Given the description of an element on the screen output the (x, y) to click on. 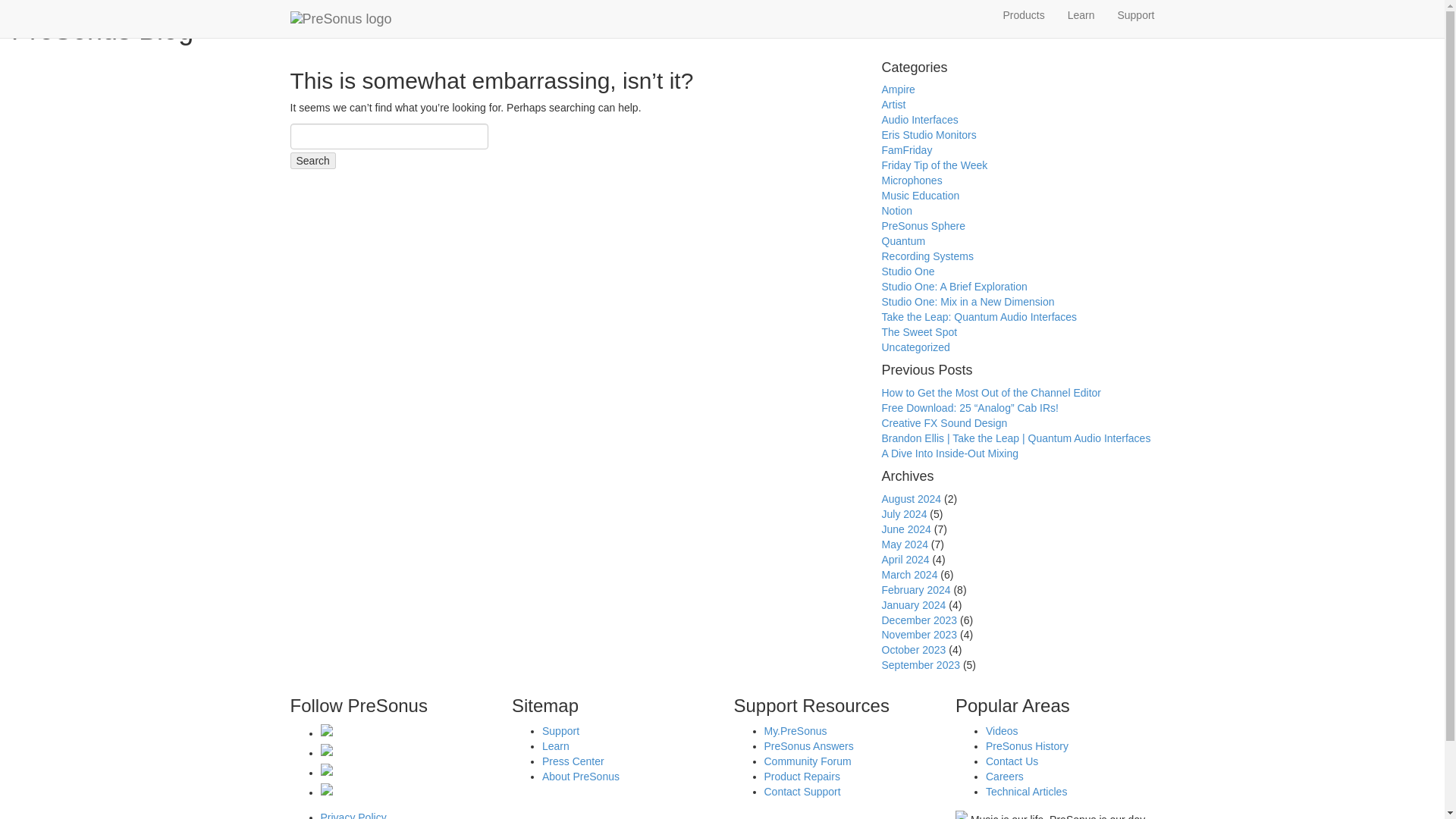
Search (311, 160)
Learn (1081, 15)
Eris Studio Monitors (927, 134)
PreSonus Sphere (922, 225)
Products (1023, 15)
Artist (892, 104)
Music Education (919, 195)
Notion (895, 210)
Friday Tip of the Week (933, 164)
FamFriday (905, 150)
